Given the description of an element on the screen output the (x, y) to click on. 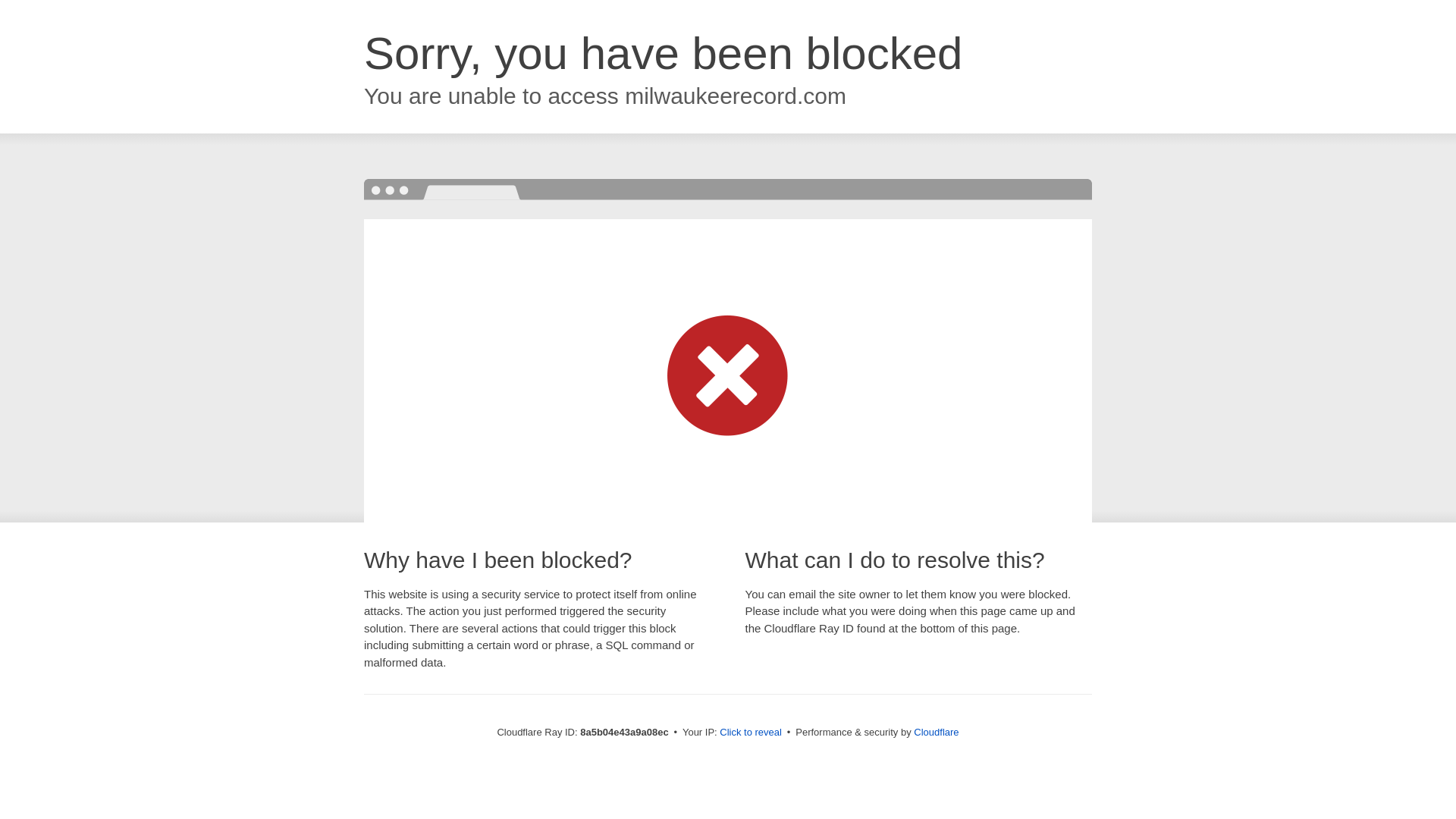
Cloudflare (936, 731)
Click to reveal (750, 732)
